Given the description of an element on the screen output the (x, y) to click on. 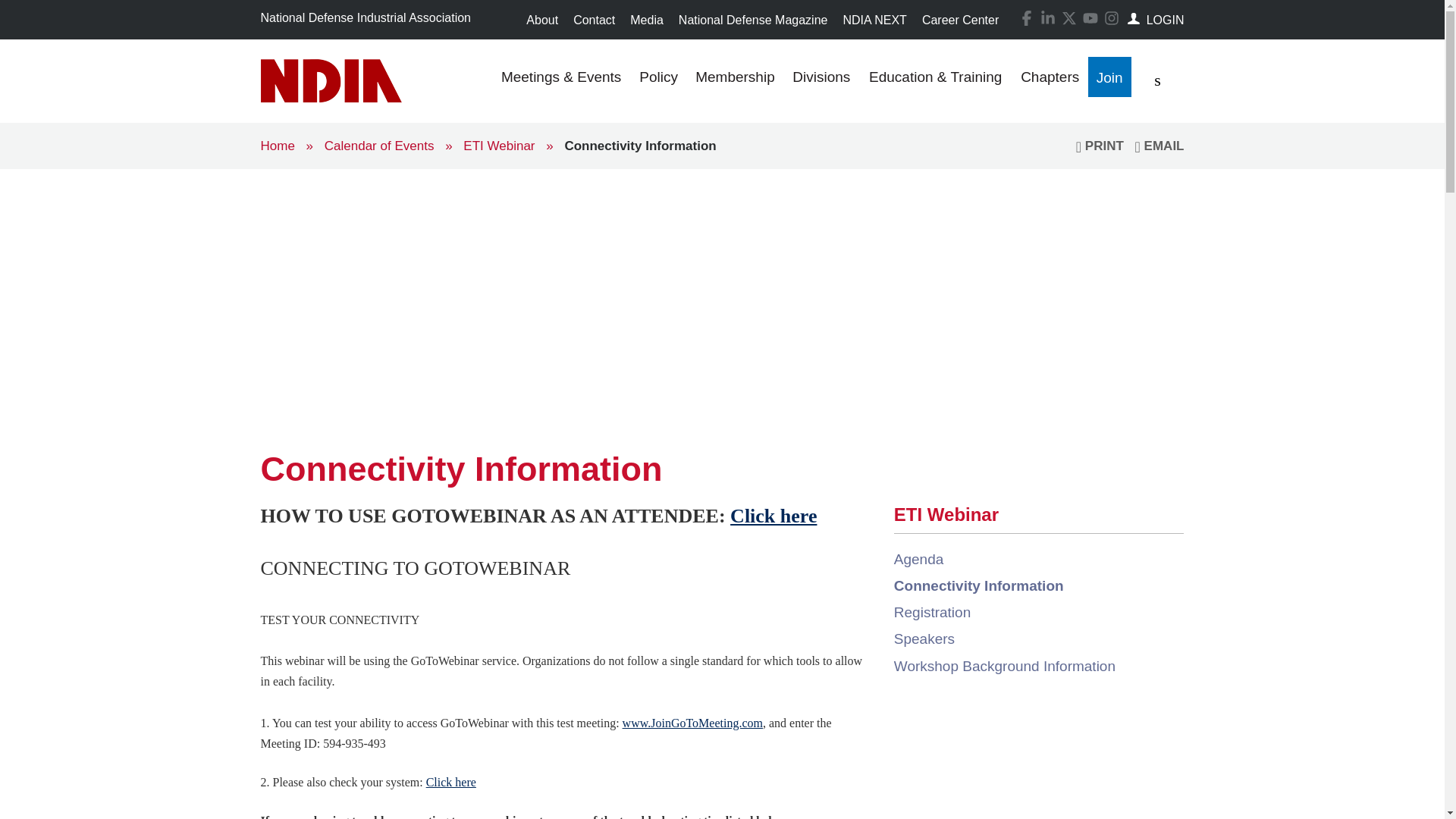
LinkedIn (1045, 17)
Instagram (1109, 17)
NDIA NEXT (874, 19)
YouTube (1087, 17)
YouTube (1090, 17)
X (1069, 17)
Membership (734, 80)
Facebook (1026, 17)
National Defense Magazine (753, 19)
About (542, 19)
